Given the description of an element on the screen output the (x, y) to click on. 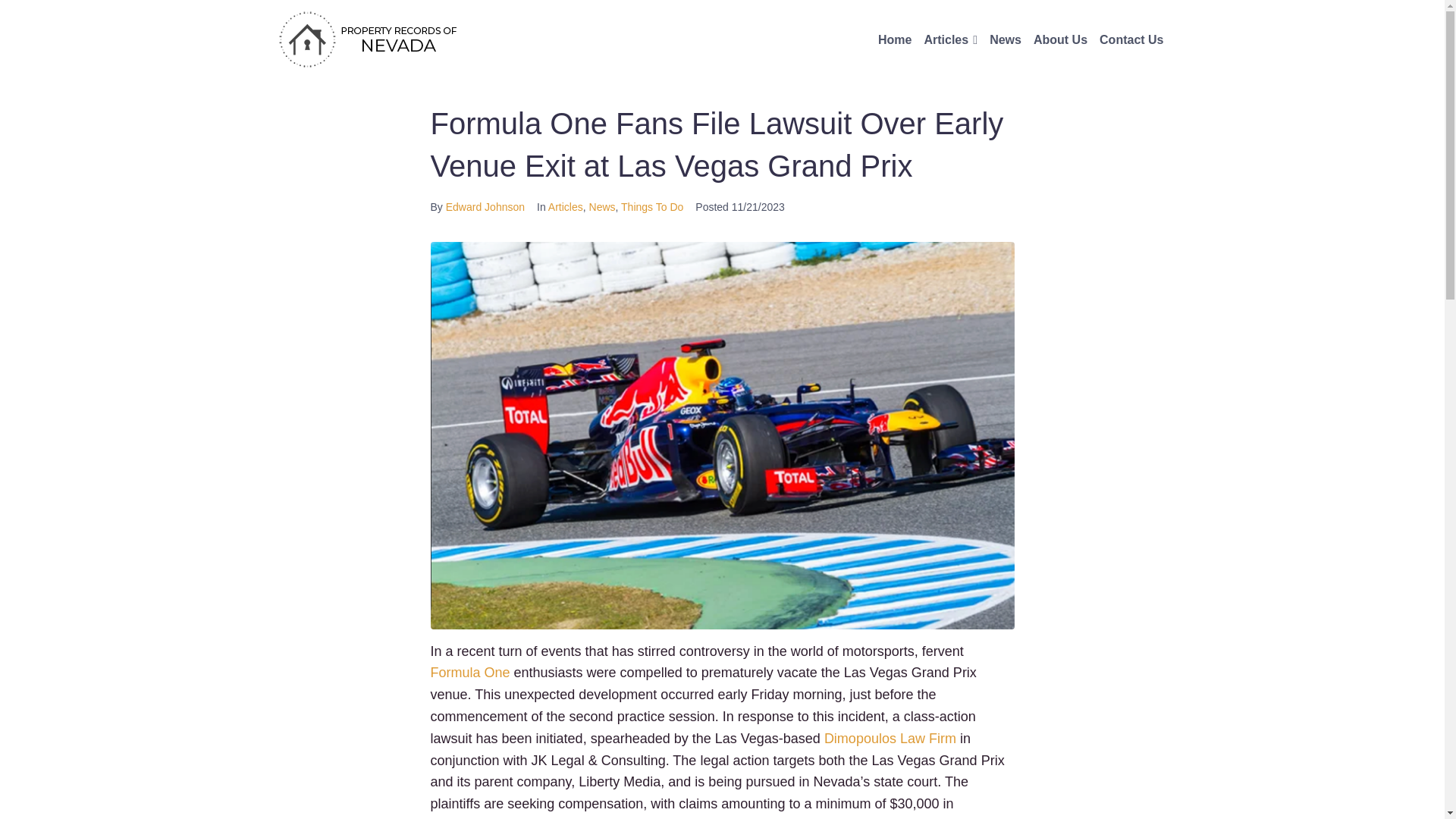
Contact Us (1131, 39)
Things To Do (651, 206)
Dimopoulos Law Firm (890, 738)
Edward Johnson (484, 206)
News (1006, 39)
Articles (945, 39)
Articles (565, 206)
Formula One (470, 672)
News (602, 206)
About Us (1060, 39)
